Given the description of an element on the screen output the (x, y) to click on. 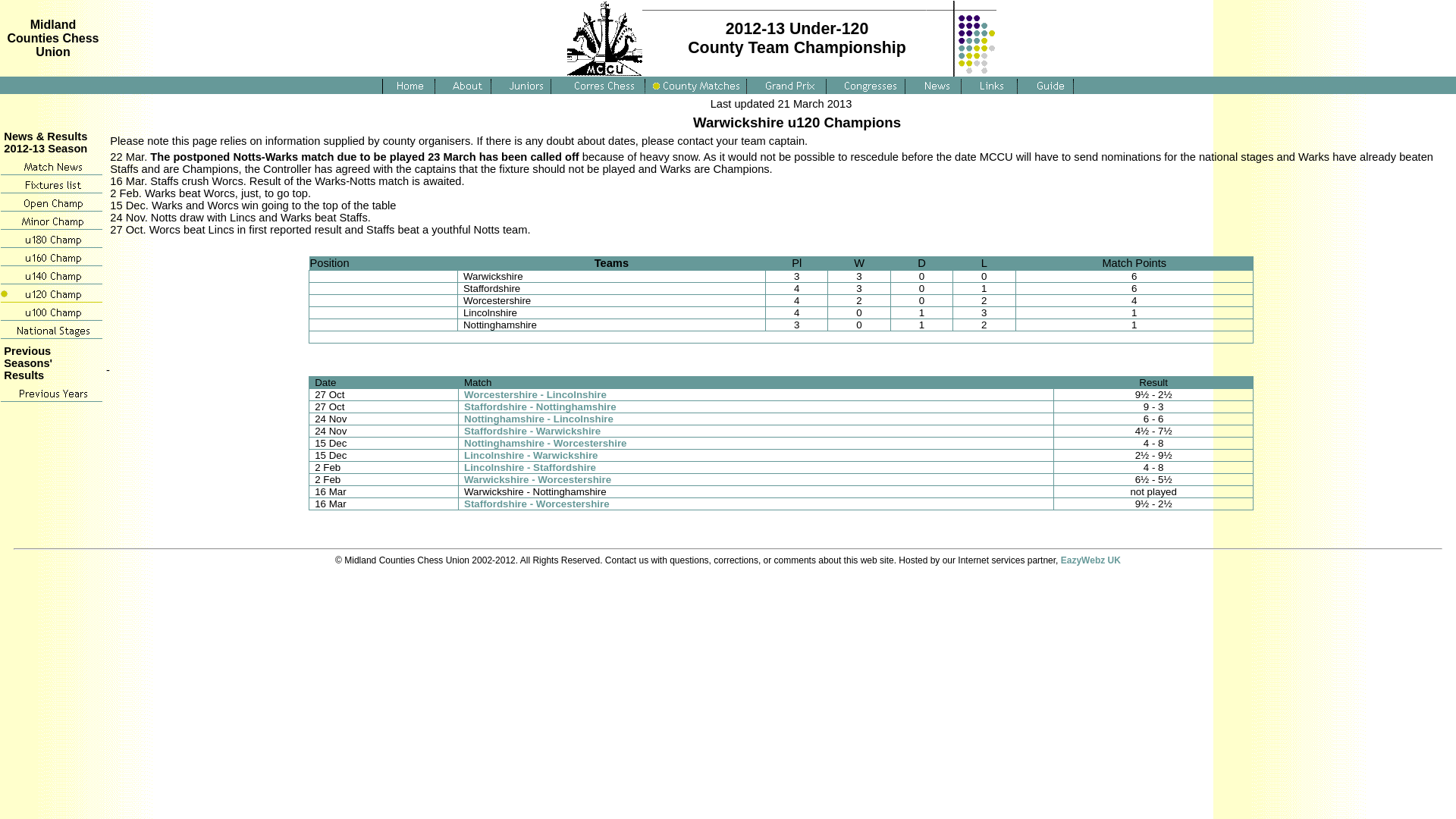
Staffordshire - Warwickshire (531, 430)
Lincolnshire - Staffordshire (529, 467)
Staffordshire - Nottinghamshire (539, 406)
Nottinghamshire - Lincolnshire (538, 419)
Worcestershire - Lincolnshire (535, 394)
Staffordshire - Worcestershire (537, 503)
Nottinghamshire - Worcestershire (545, 442)
Warwickshire - Worcestershire (537, 479)
Lincolnshire - Warwickshire (531, 455)
